Given the description of an element on the screen output the (x, y) to click on. 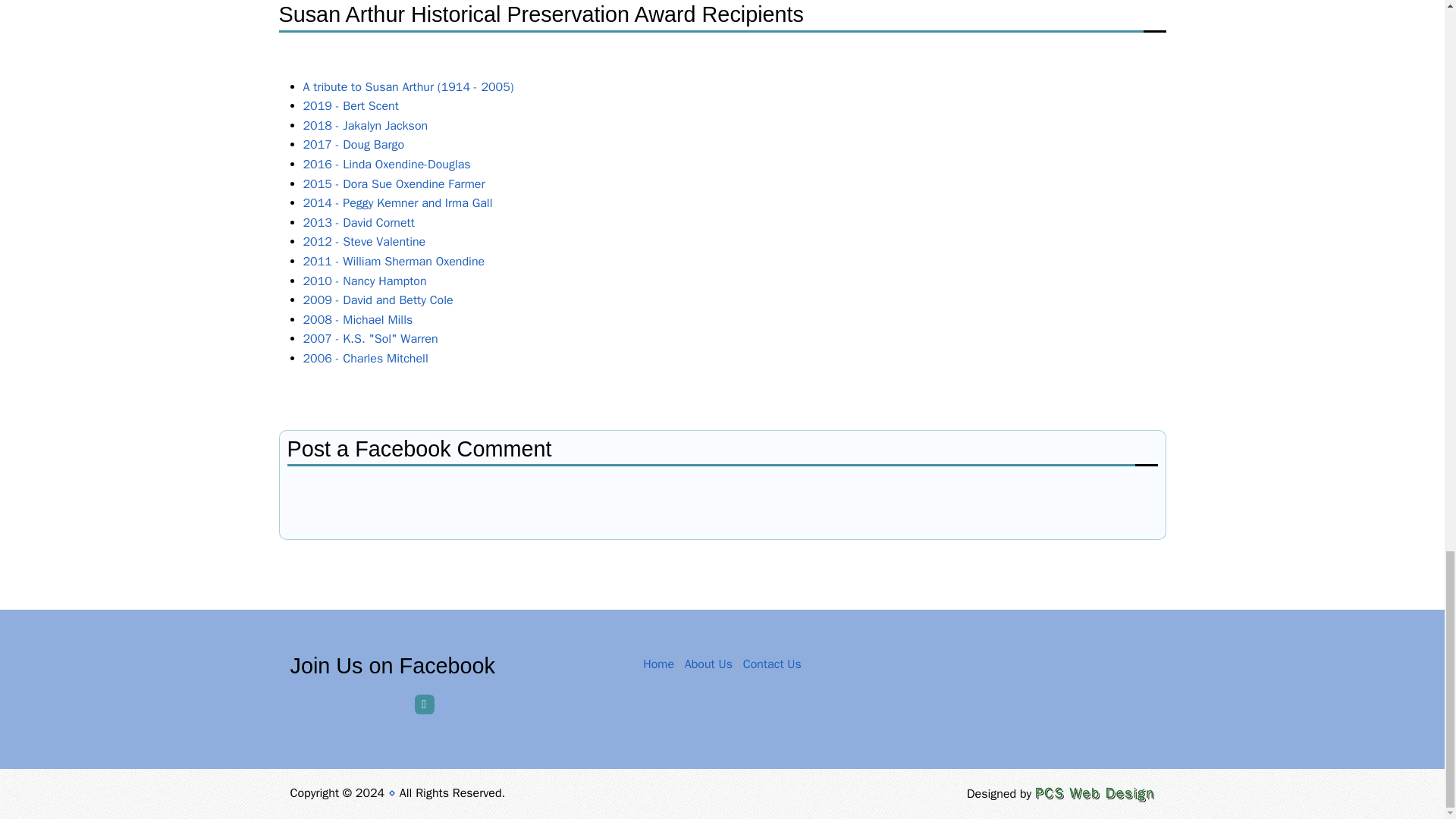
Facebook (423, 704)
